Given the description of an element on the screen output the (x, y) to click on. 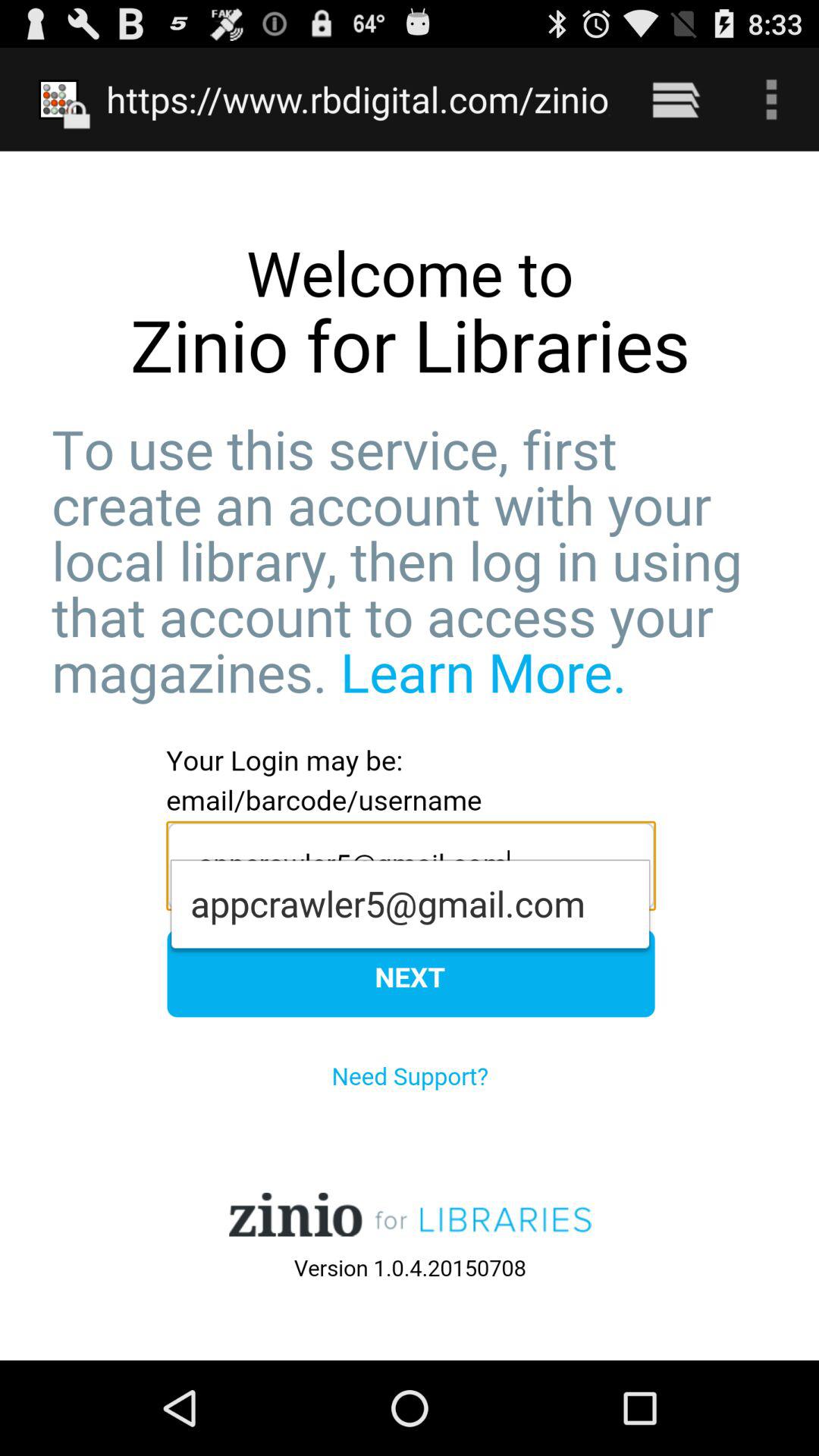
select the https www rbdigital at the top (357, 99)
